Given the description of an element on the screen output the (x, y) to click on. 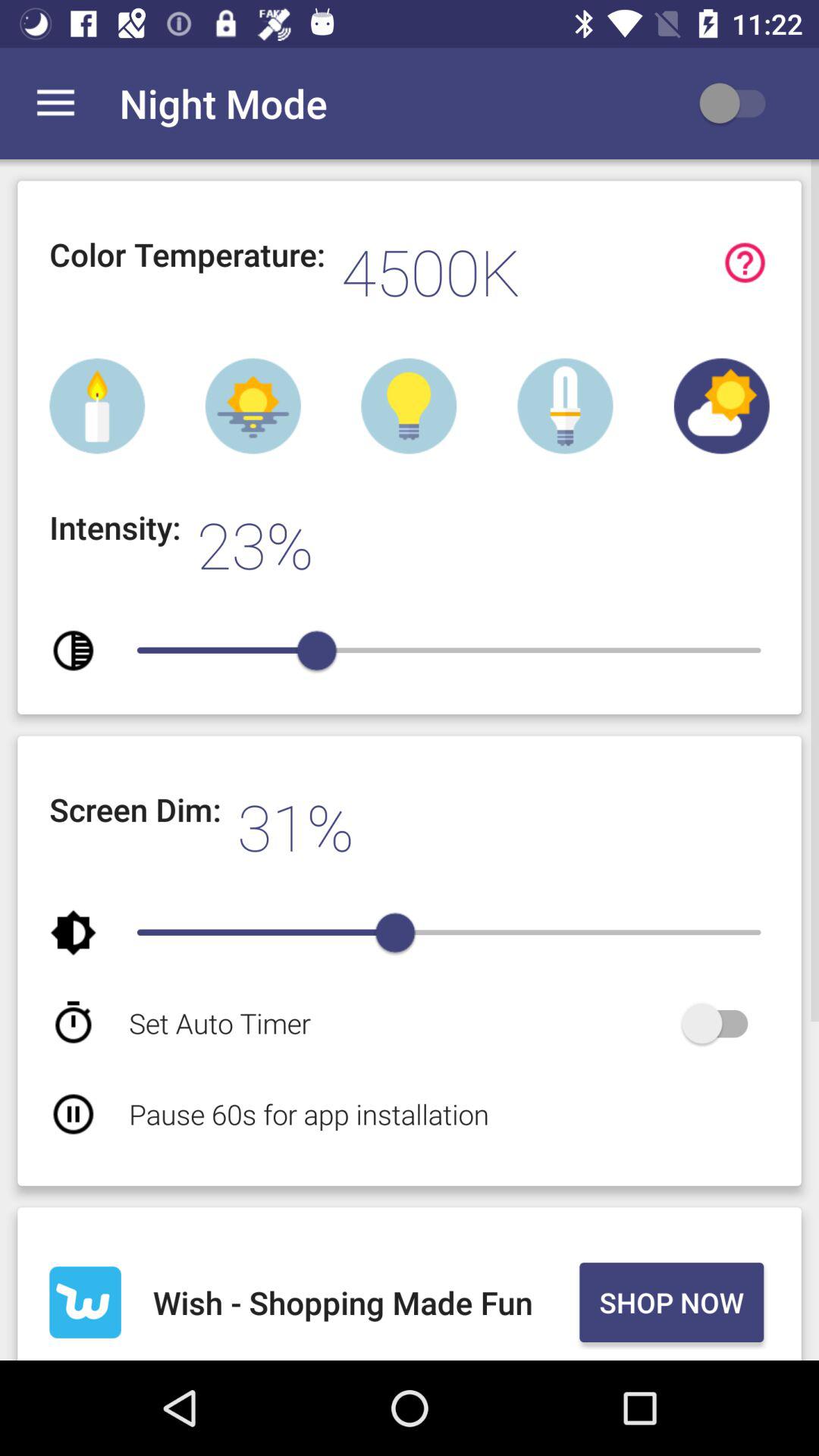
choose icon next to shop now icon (362, 1302)
